Given the description of an element on the screen output the (x, y) to click on. 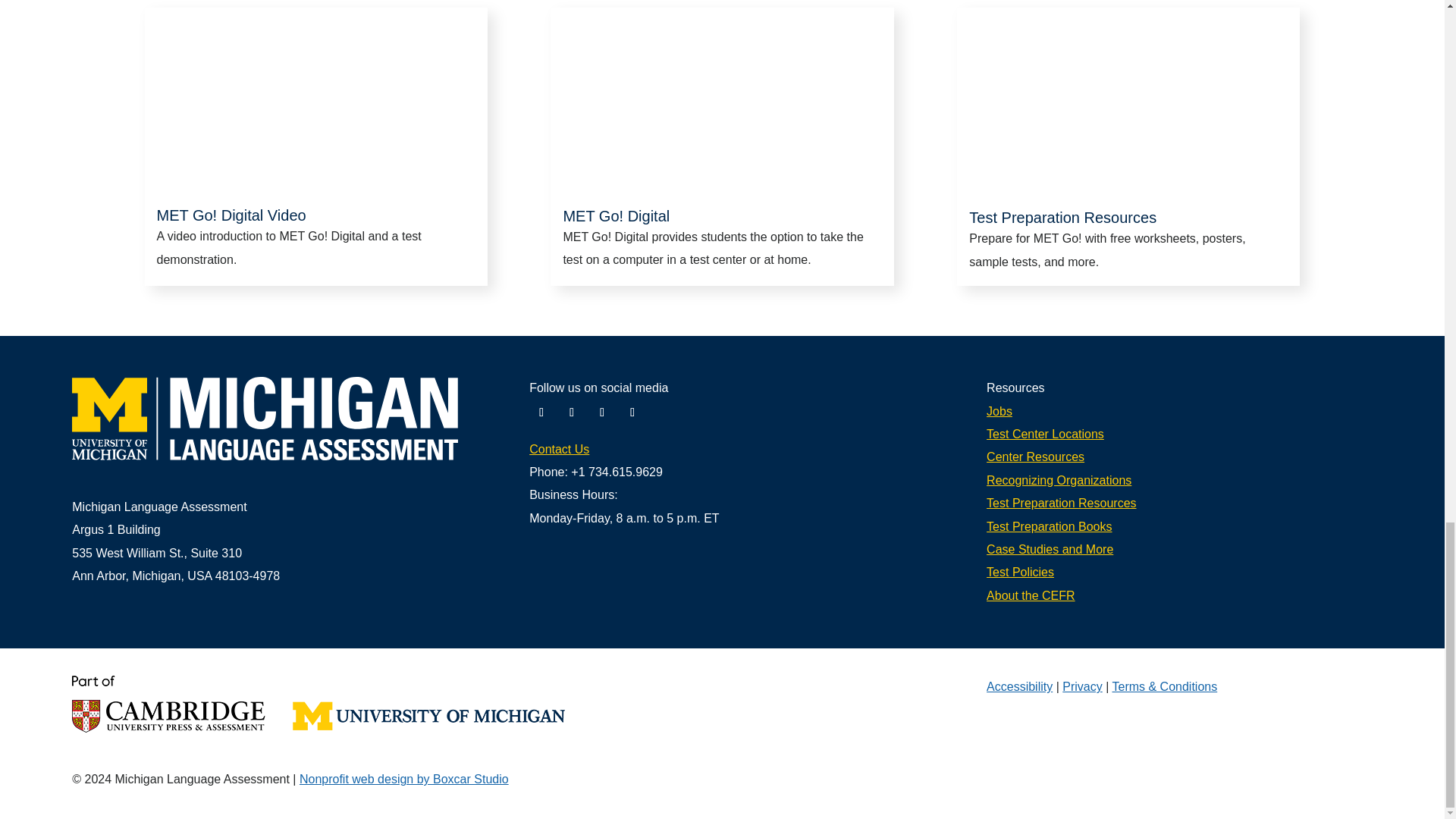
Follow on Instagram (632, 412)
2020.0120.MLA-Logo-Reverse-01 (264, 417)
Follow on LinkedIn (571, 412)
Follow on Youtube (601, 412)
23.8.UM-CUPA-Logo-Horz (317, 703)
Follow on Facebook (541, 412)
